Given the description of an element on the screen output the (x, y) to click on. 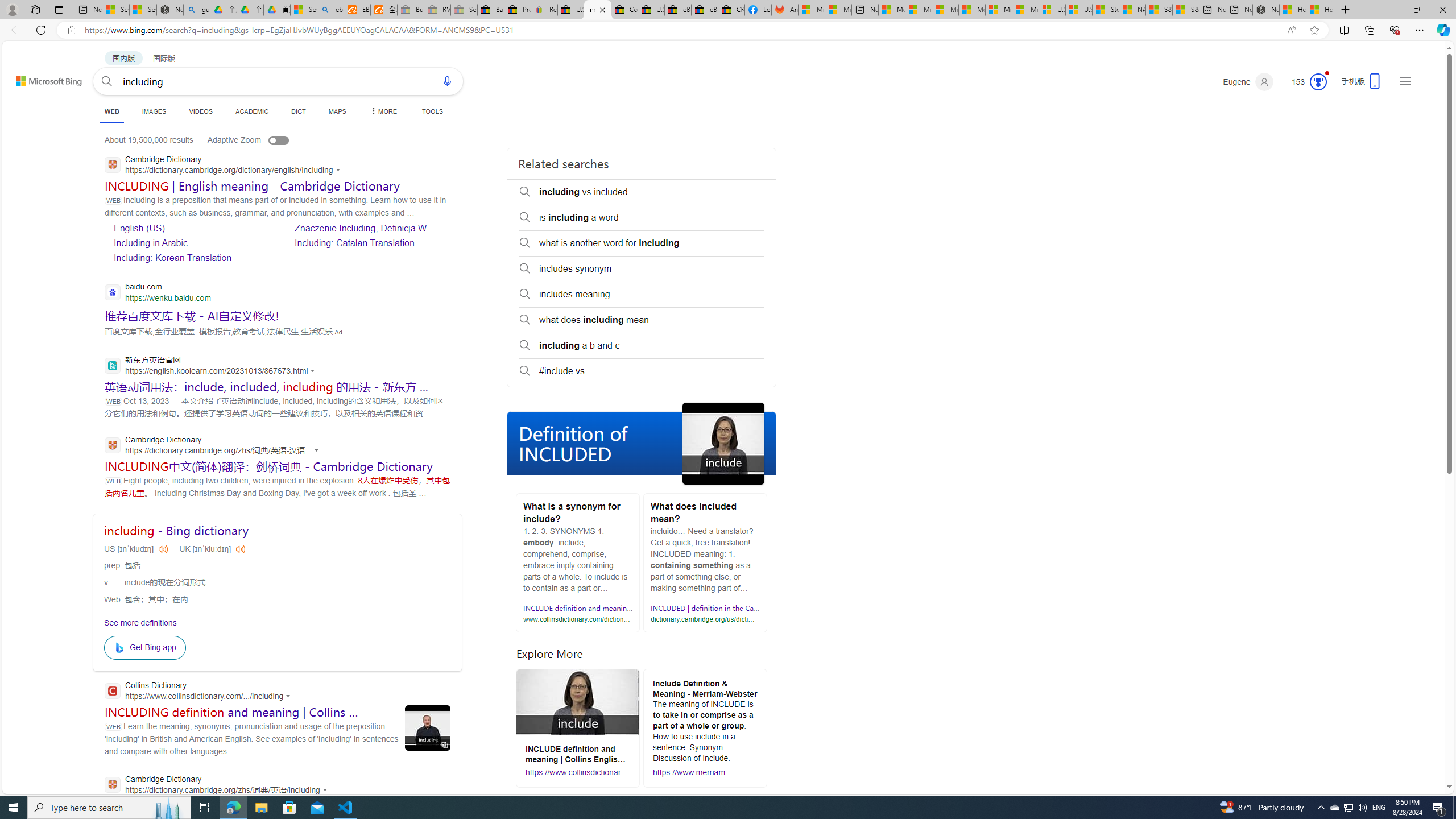
Including in Arabic (191, 242)
Microsoft Rewards 153 (1304, 81)
includes meaning (641, 294)
Search using voice (446, 80)
Collins Dictionary (200, 691)
Cambridge Dictionary (218, 785)
Microsoft account | Privacy (917, 9)
TOOLS (431, 111)
TOOLS (431, 111)
